Given the description of an element on the screen output the (x, y) to click on. 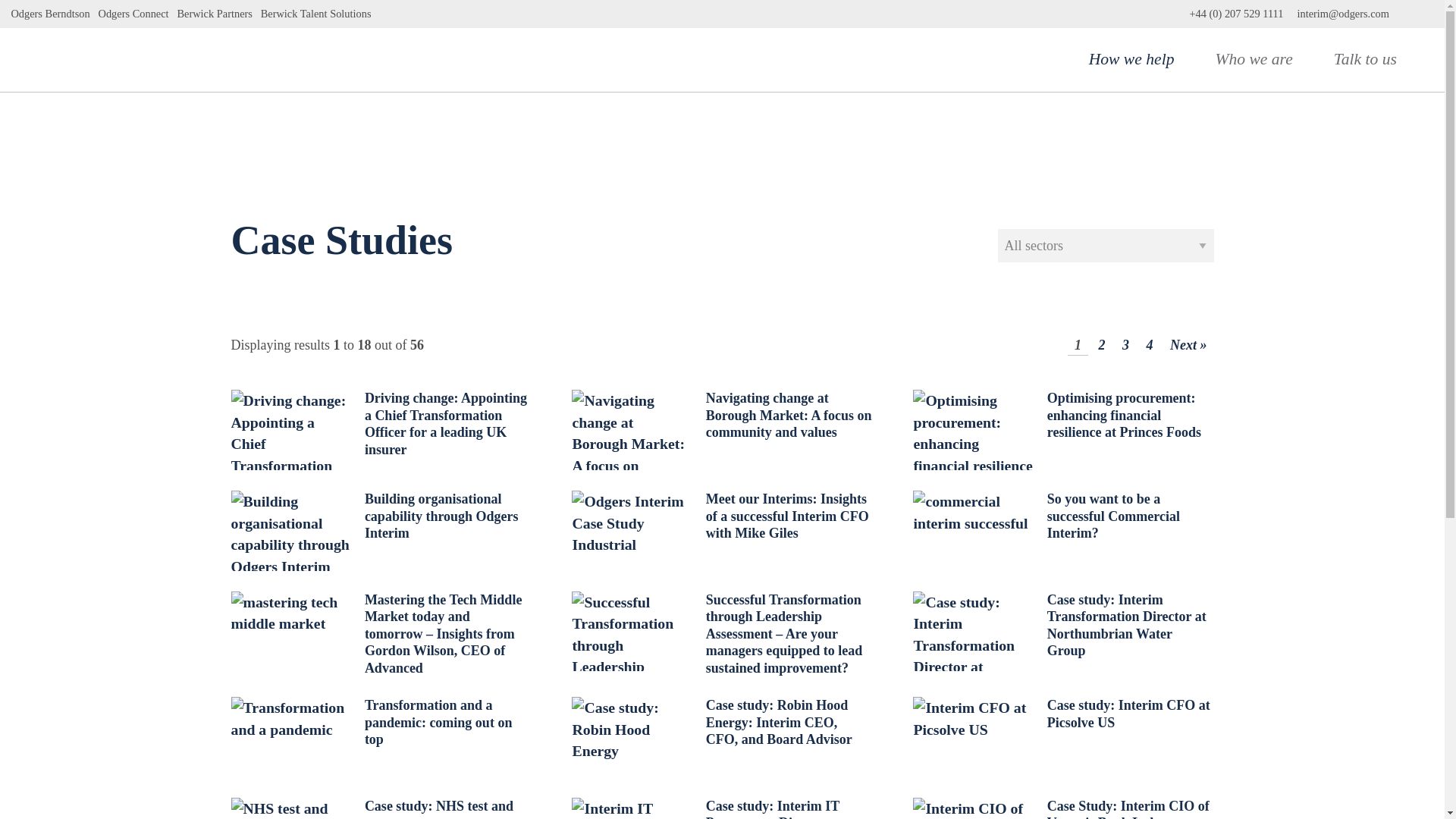
Talk to us (1371, 58)
Who we are (1260, 58)
Berwick Talent Solutions (315, 14)
Berwick Partners (214, 14)
How we help (1138, 58)
Berwick Talent Solutions (315, 14)
Search (1417, 13)
Odgers Berndtson (50, 14)
How we help (1138, 58)
Berwick Partners (214, 14)
